Given the description of an element on the screen output the (x, y) to click on. 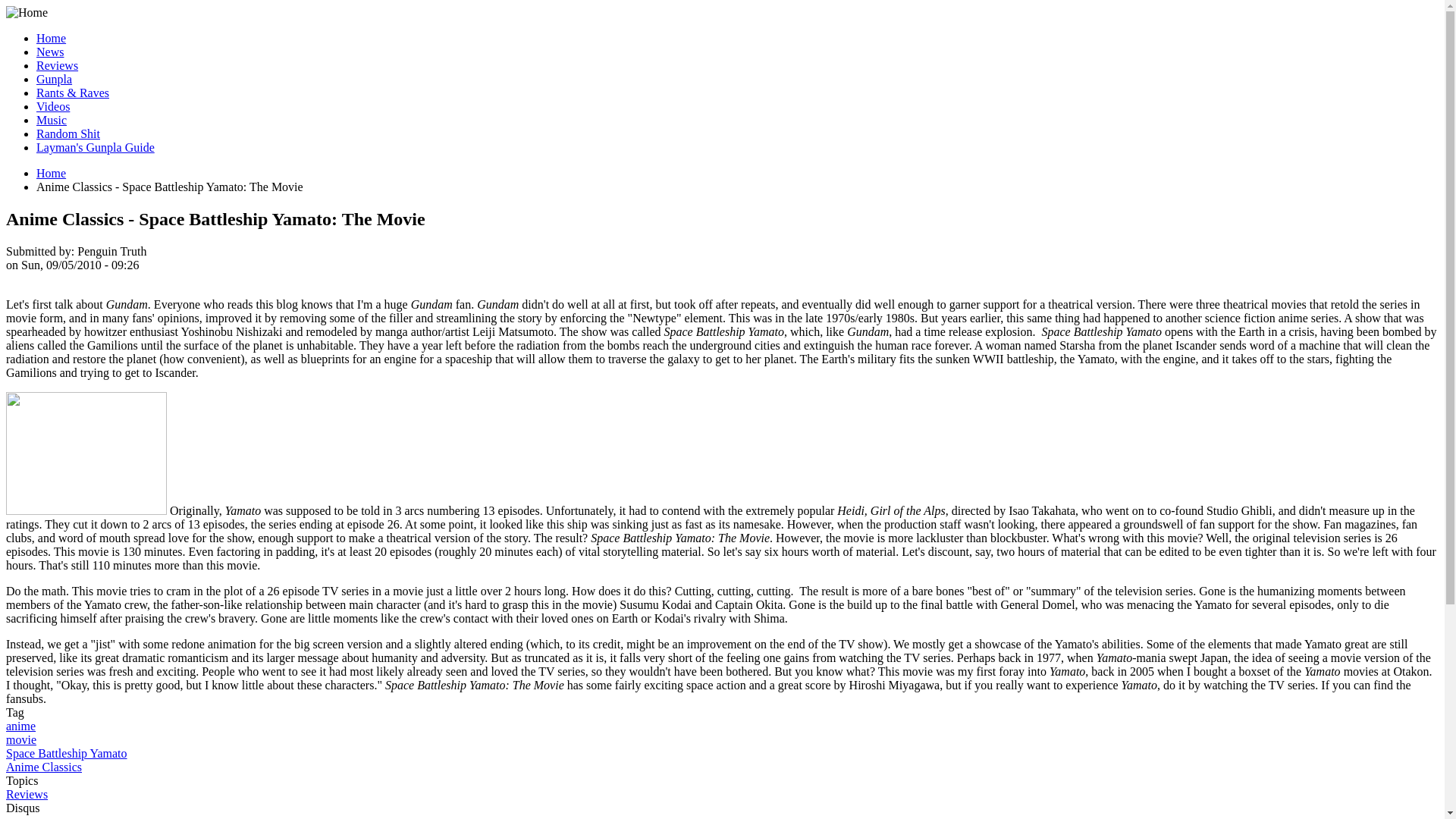
Reviews (57, 65)
Home (50, 173)
News (50, 51)
Videos (52, 106)
movie (20, 739)
Anime Classics (43, 766)
Layman's Gunpla Guide (95, 146)
Reviews (26, 793)
Music (51, 119)
